Given the description of an element on the screen output the (x, y) to click on. 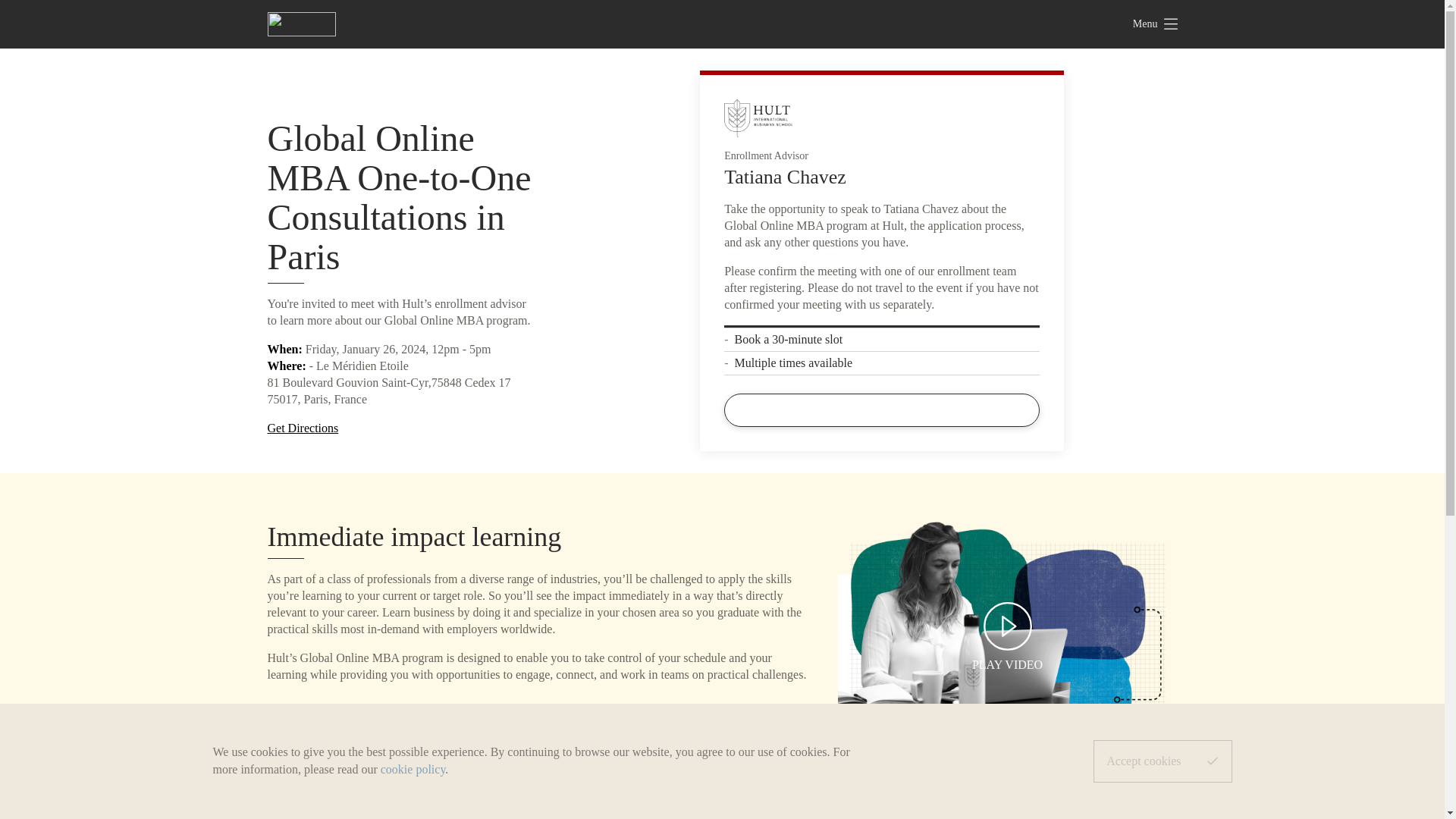
Get Directions (301, 427)
Hult Live Online MBA (1006, 634)
cookie policy (412, 768)
Accept cookies (1162, 761)
Book a Time With Tatiana (881, 409)
